Given the description of an element on the screen output the (x, y) to click on. 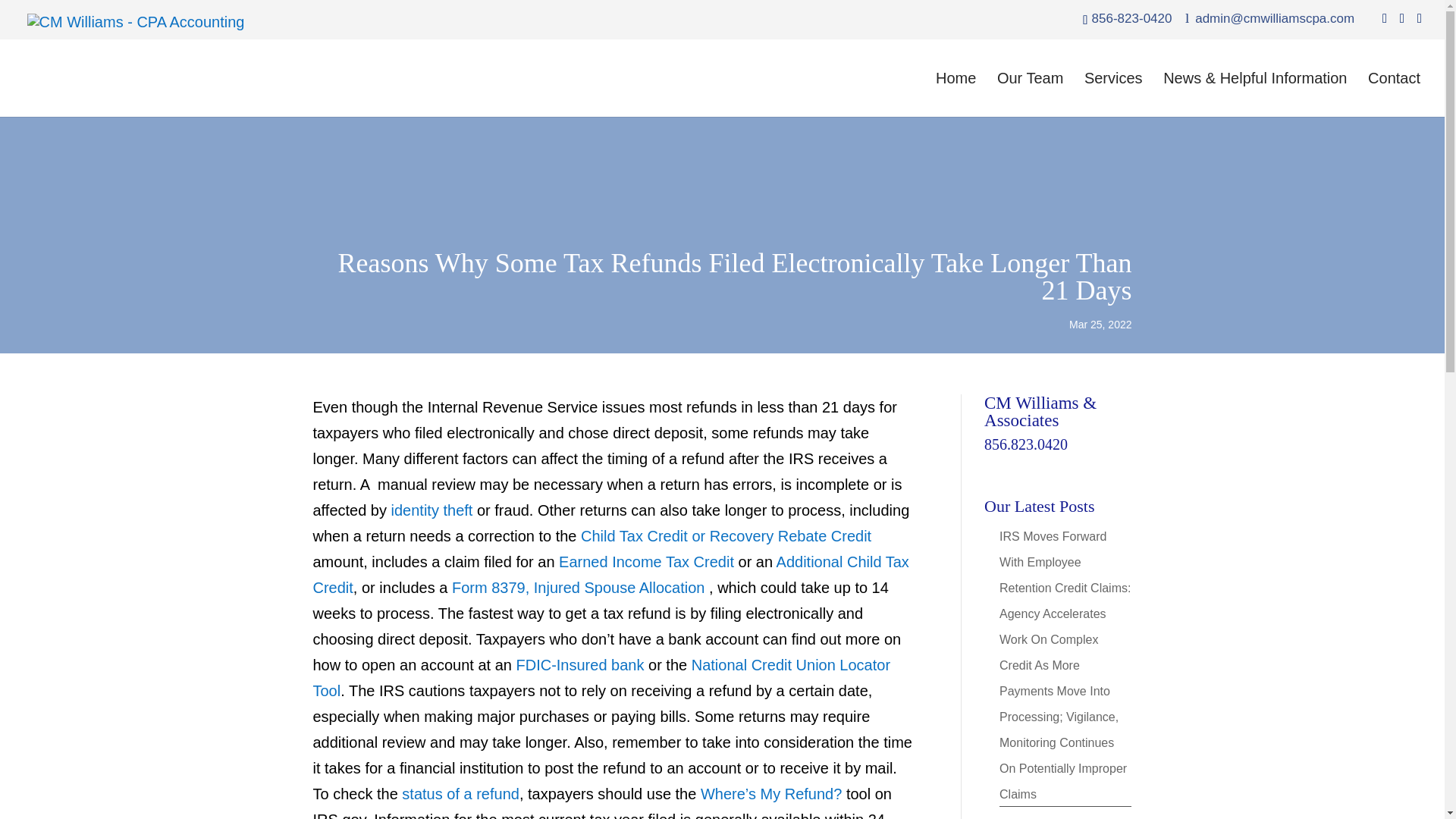
identity theft (432, 510)
Additional Child Tax Credit (610, 574)
Form 8379, Injured Spouse Allocation (577, 587)
Child Tax Credit or Recovery Rebate Credit (725, 535)
Our Team (1029, 94)
FDIC-Insured bank (579, 664)
Services (1113, 94)
status of a refund (460, 793)
Home (955, 94)
Earned Income Tax Credit (646, 561)
